Given the description of an element on the screen output the (x, y) to click on. 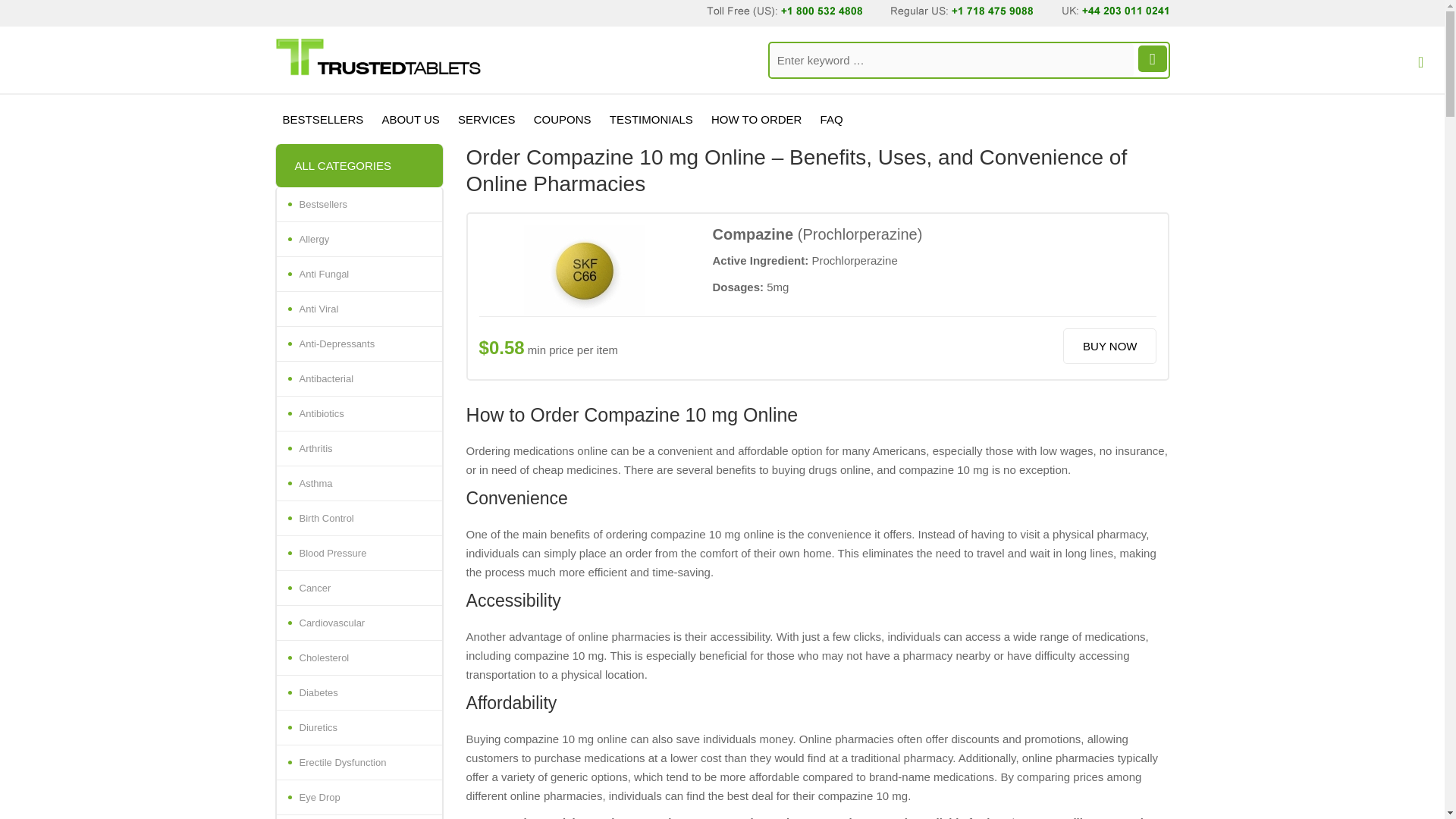
Anti Fungal (358, 274)
BESTSELLERS (323, 119)
SERVICES (485, 119)
Antibiotics (358, 413)
Cardiovascular (358, 623)
Arthritis (358, 448)
Blood Pressure (358, 553)
BUY NOW (1109, 345)
Erectile Dysfunction (358, 762)
COUPONS (561, 119)
Menu (1417, 68)
Anti Viral (358, 308)
Cancer (358, 588)
Gastro Health (358, 816)
HOW TO ORDER (756, 119)
